Given the description of an element on the screen output the (x, y) to click on. 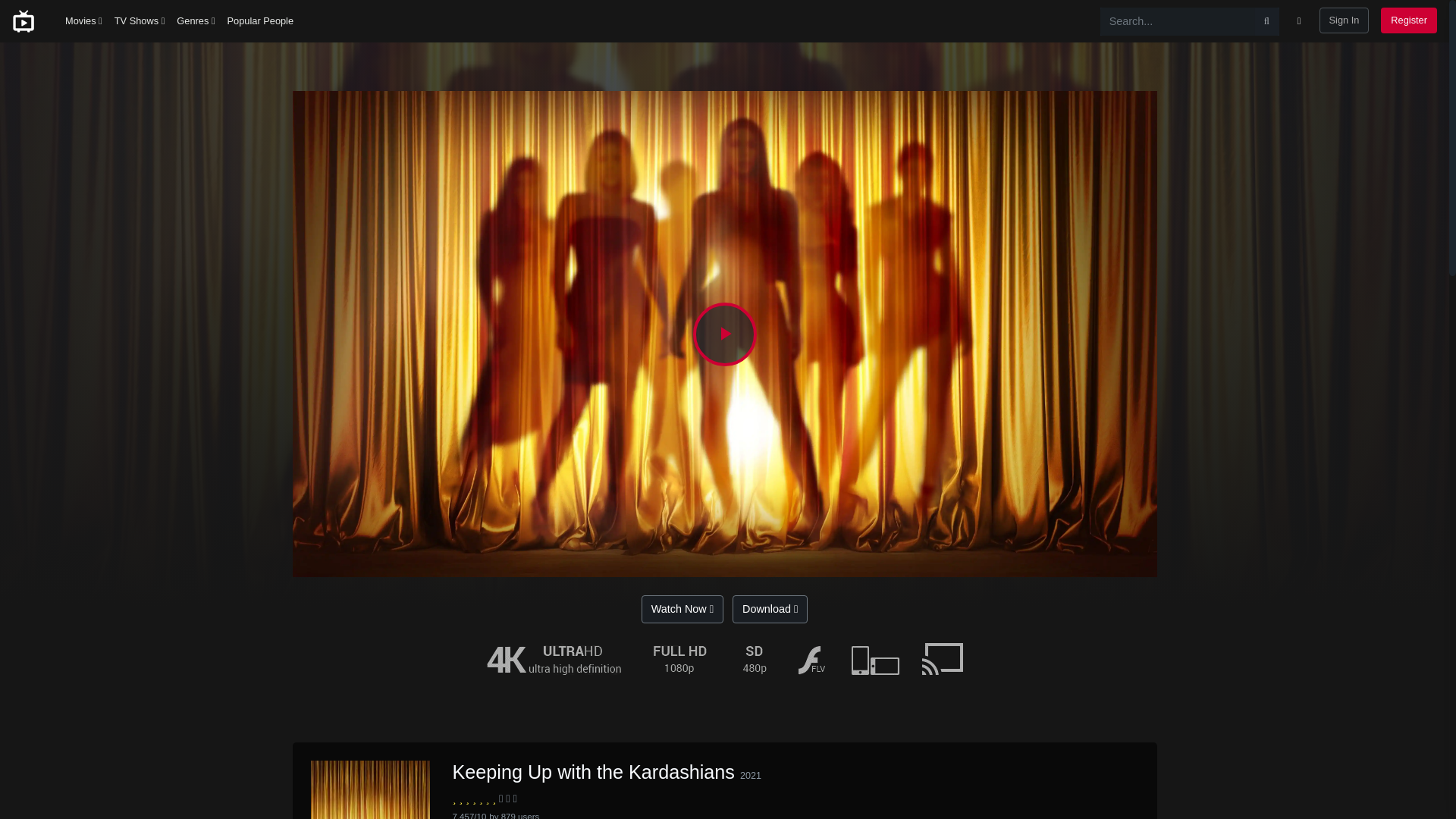
Movies (83, 21)
TV Shows (139, 21)
